Given the description of an element on the screen output the (x, y) to click on. 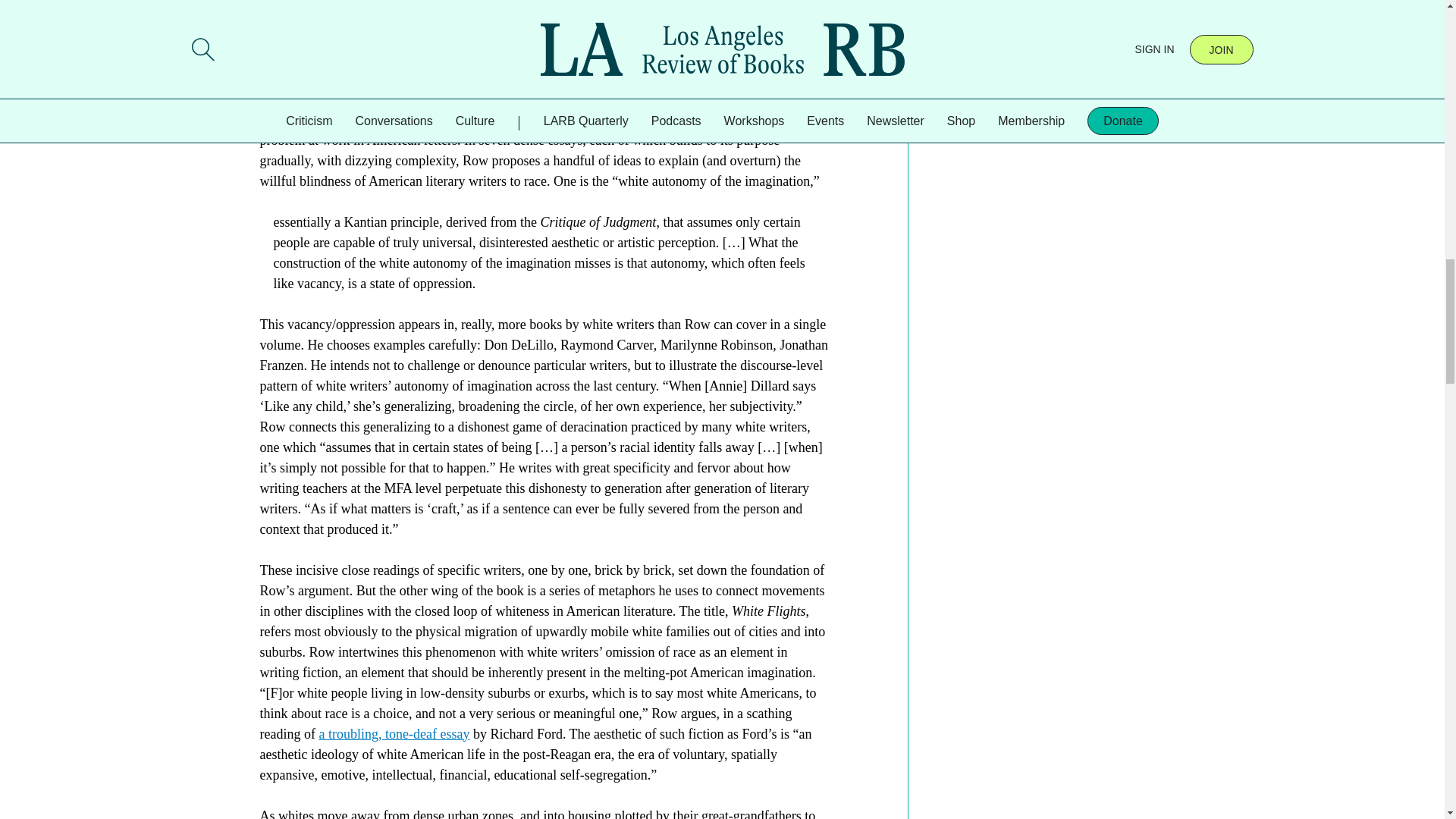
a troubling, tone-deaf essay (393, 734)
